Given the description of an element on the screen output the (x, y) to click on. 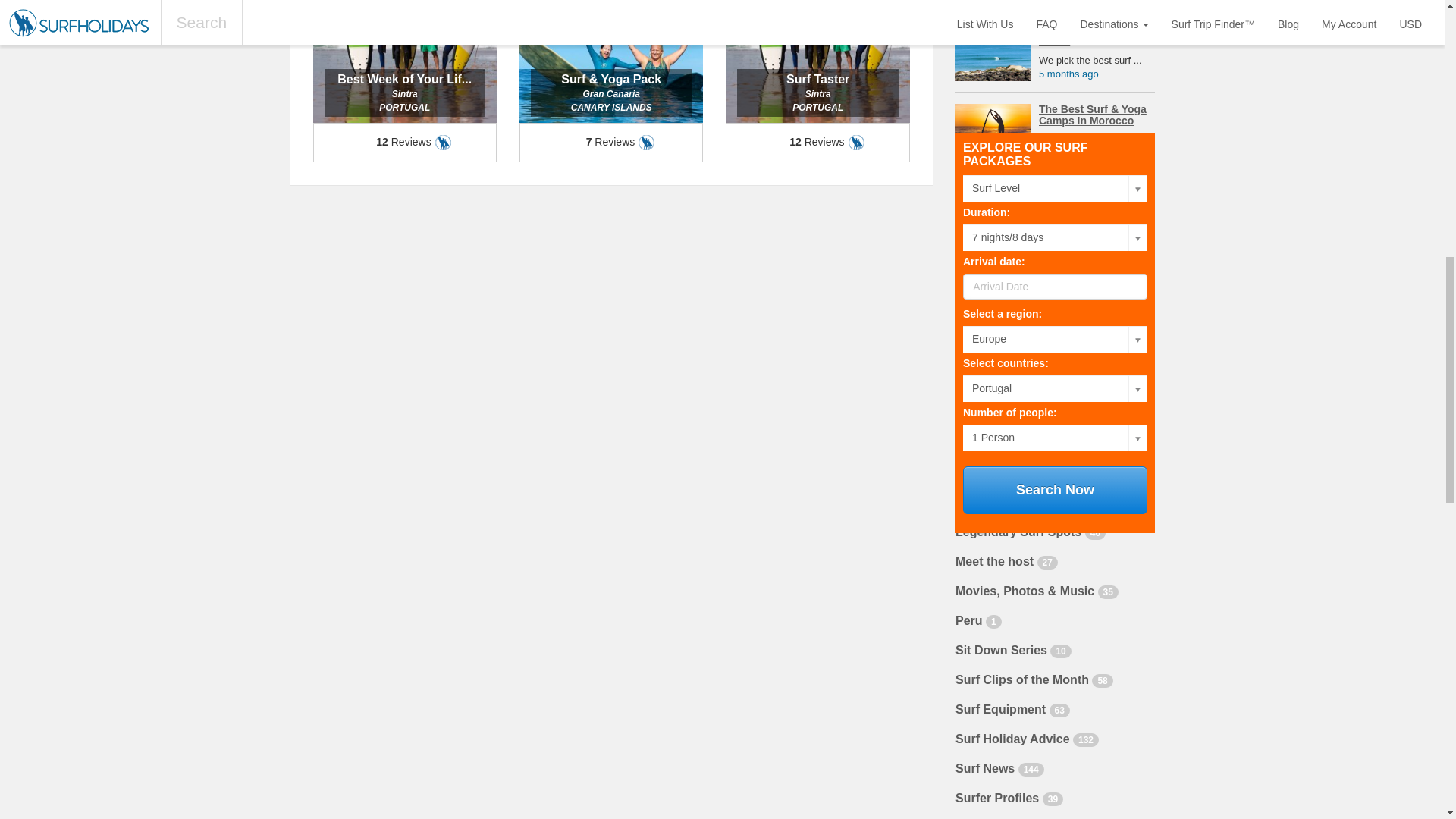
Best Week of Your Life (404, 81)
Surf Taster (816, 81)
